Given the description of an element on the screen output the (x, y) to click on. 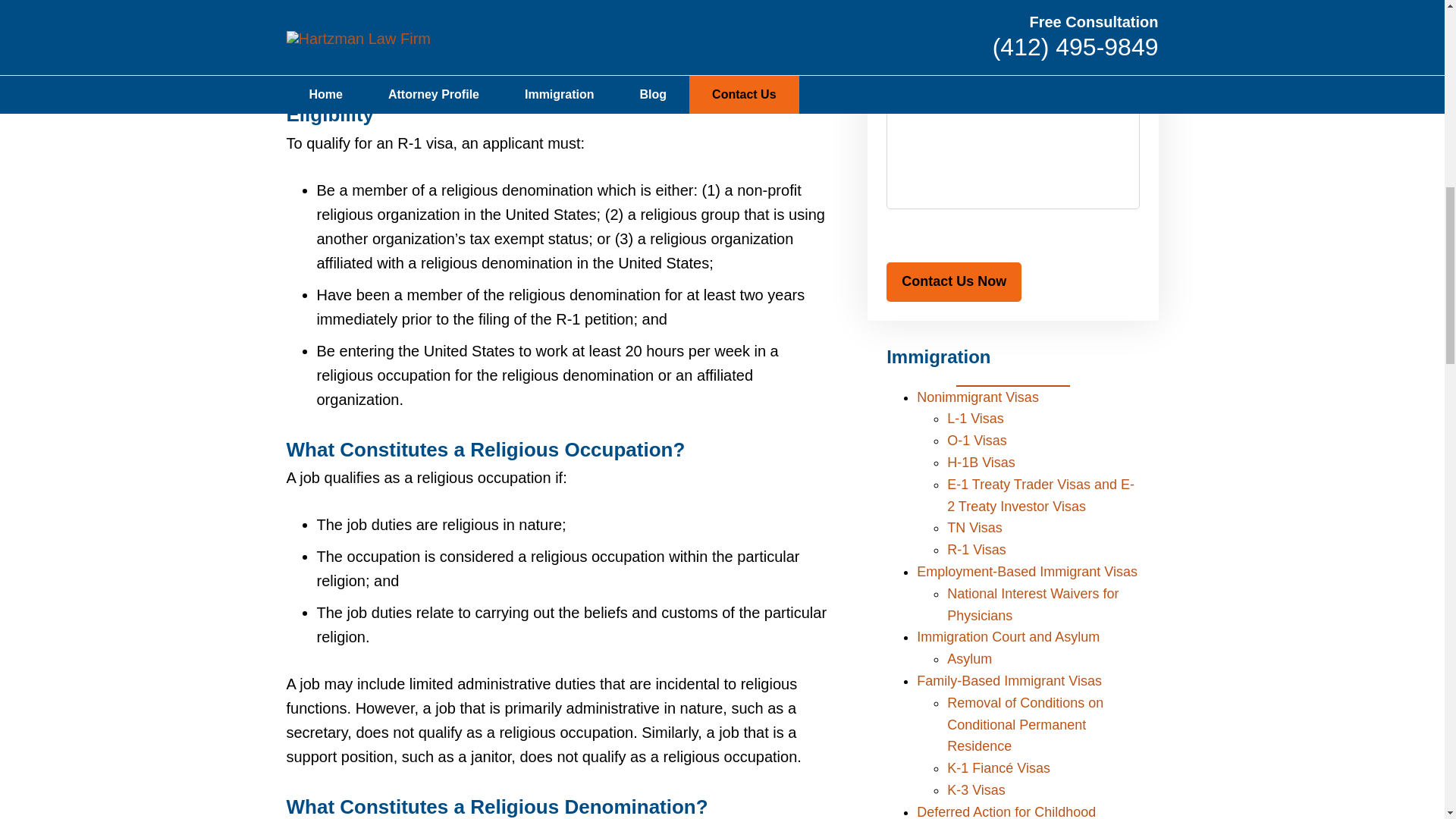
R-1 Visas (976, 549)
Immigration Court and Asylum (1008, 636)
E-1 Treaty Trader Visas and E-2 Treaty Investor Visas (1040, 495)
Contact Us Now (954, 282)
L-1 Visas (975, 418)
Nonimmigrant Visas (978, 396)
Asylum (969, 658)
H-1B Visas (980, 462)
National Interest Waivers for Physicians (1032, 604)
Family-Based Immigrant Visas (1009, 680)
